Given the description of an element on the screen output the (x, y) to click on. 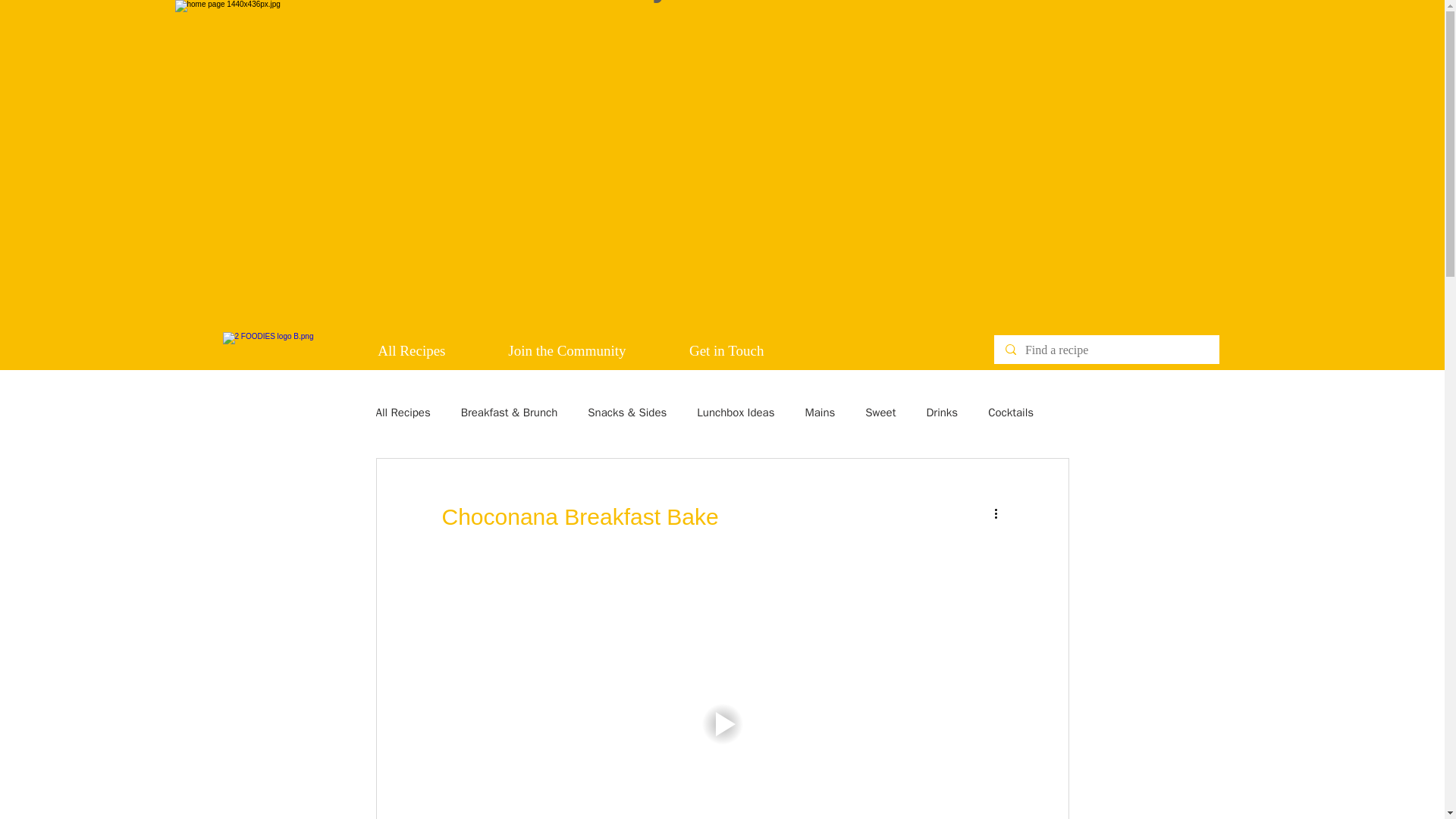
Mains (819, 411)
Drinks (942, 411)
Sweet (879, 411)
Join the Community (547, 350)
All Recipes (391, 350)
Get in Touch (705, 350)
Lunchbox Ideas (735, 411)
Cocktails (1010, 411)
All Recipes (402, 411)
